Given the description of an element on the screen output the (x, y) to click on. 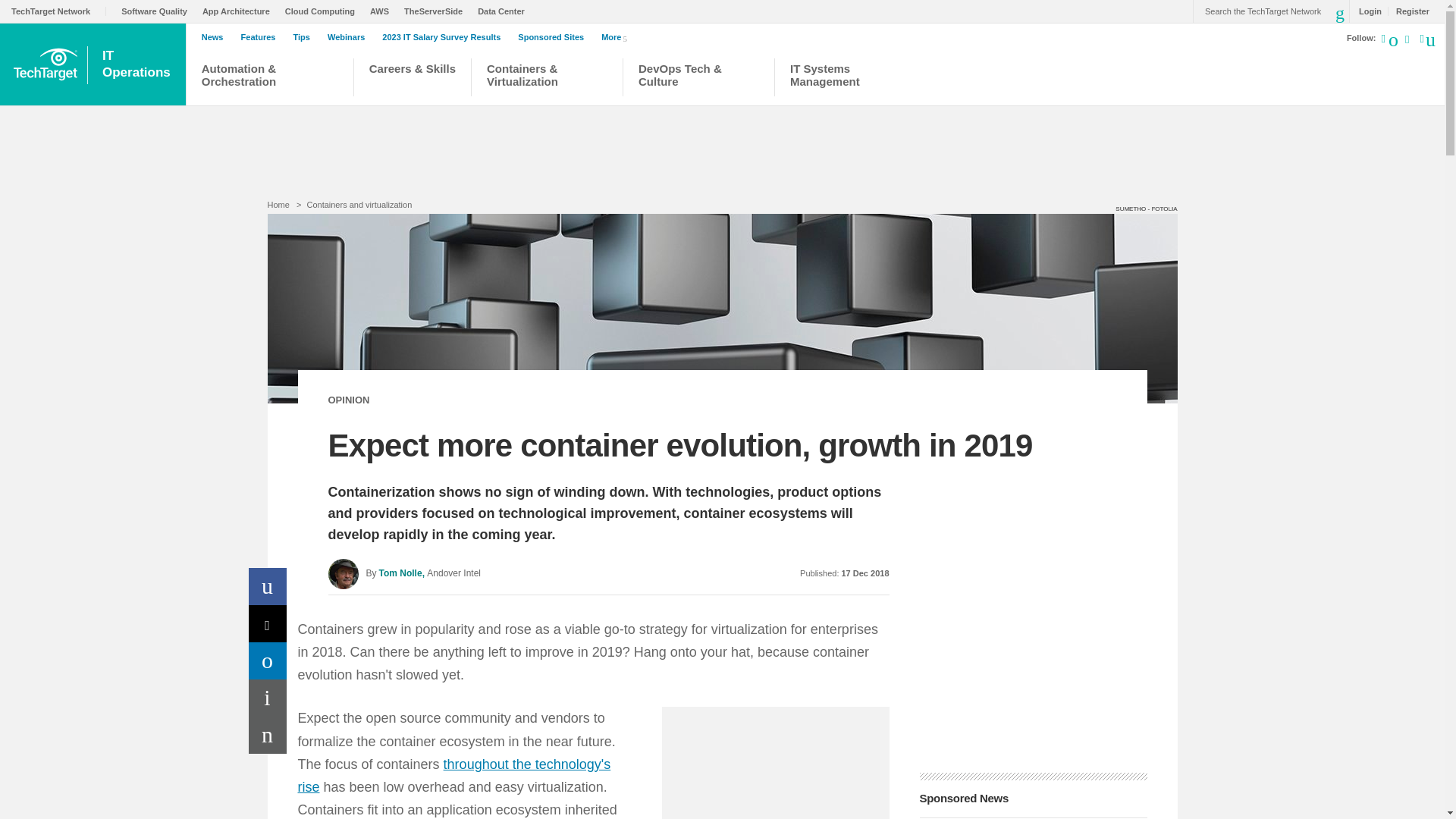
Print This Page (138, 64)
Webinars (267, 697)
News (349, 36)
Register (216, 36)
Features (1408, 10)
Login (262, 36)
IT Systems Management (1366, 10)
Share on LinkedIn (831, 79)
More (267, 660)
